Given the description of an element on the screen output the (x, y) to click on. 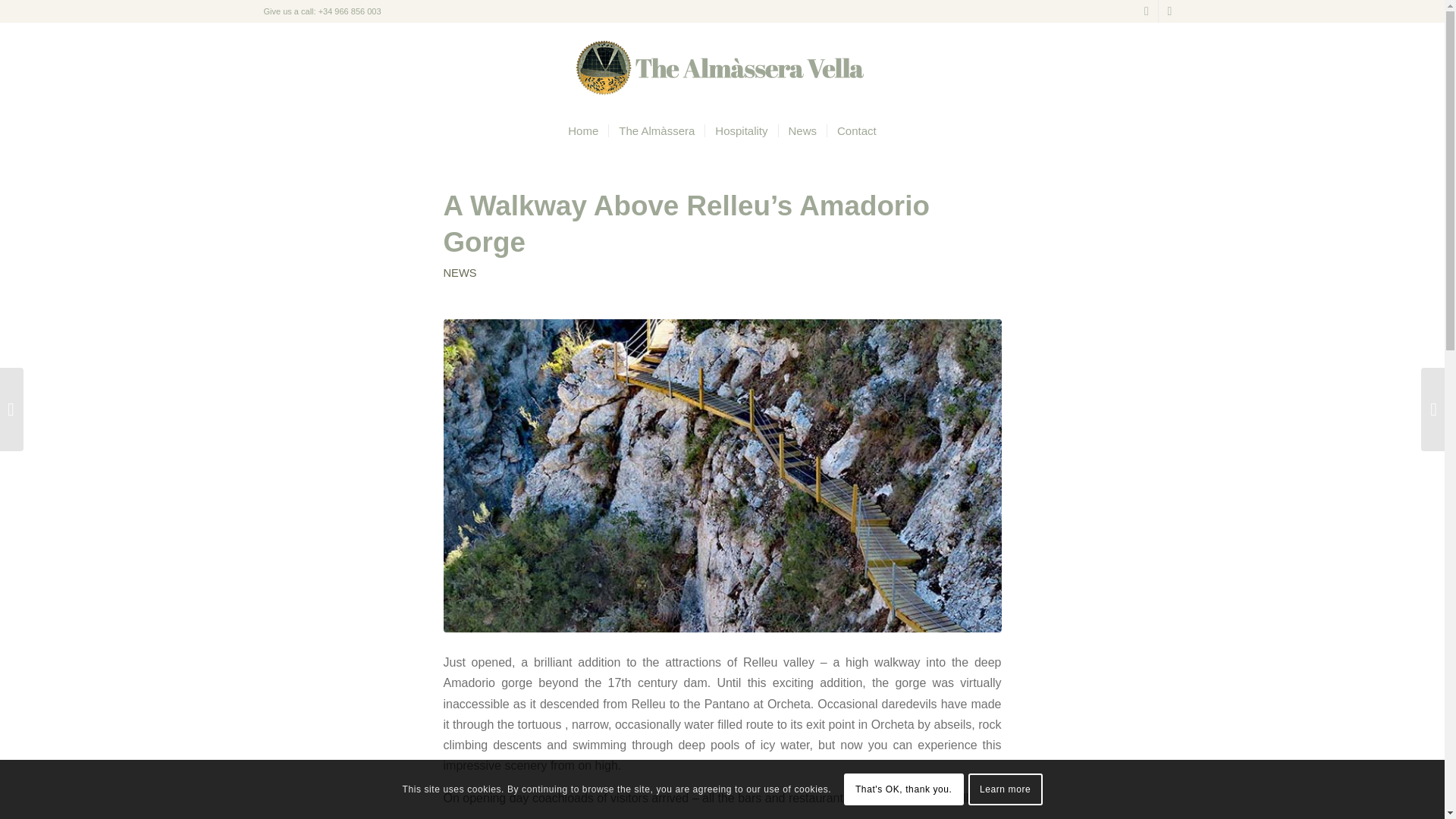
Hospitality (740, 130)
NEWS (459, 272)
Facebook (1169, 11)
Learn more (1005, 789)
Home (582, 130)
Twitter (1146, 11)
News (802, 130)
Contact (856, 130)
That's OK, thank you. (903, 789)
